Given the description of an element on the screen output the (x, y) to click on. 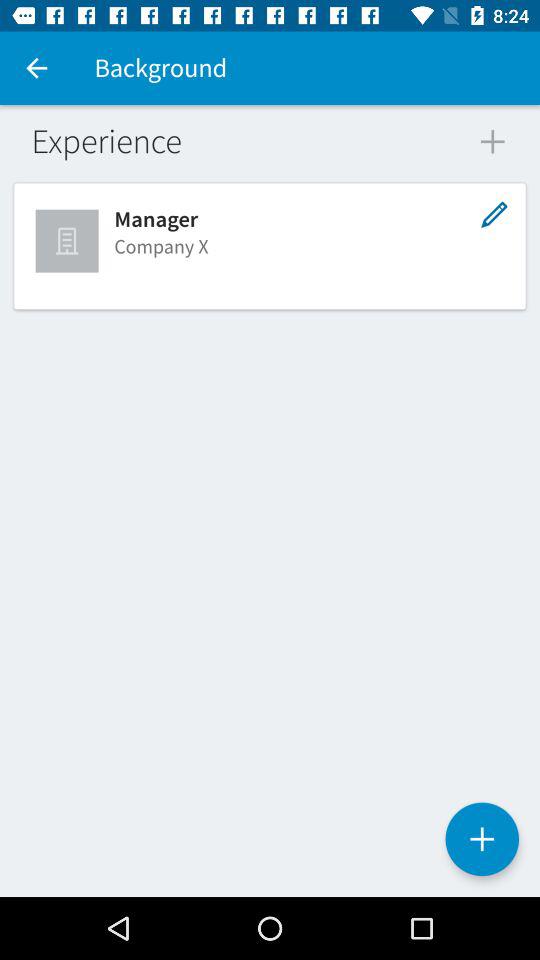
turn off icon below the experience item (69, 240)
